Given the description of an element on the screen output the (x, y) to click on. 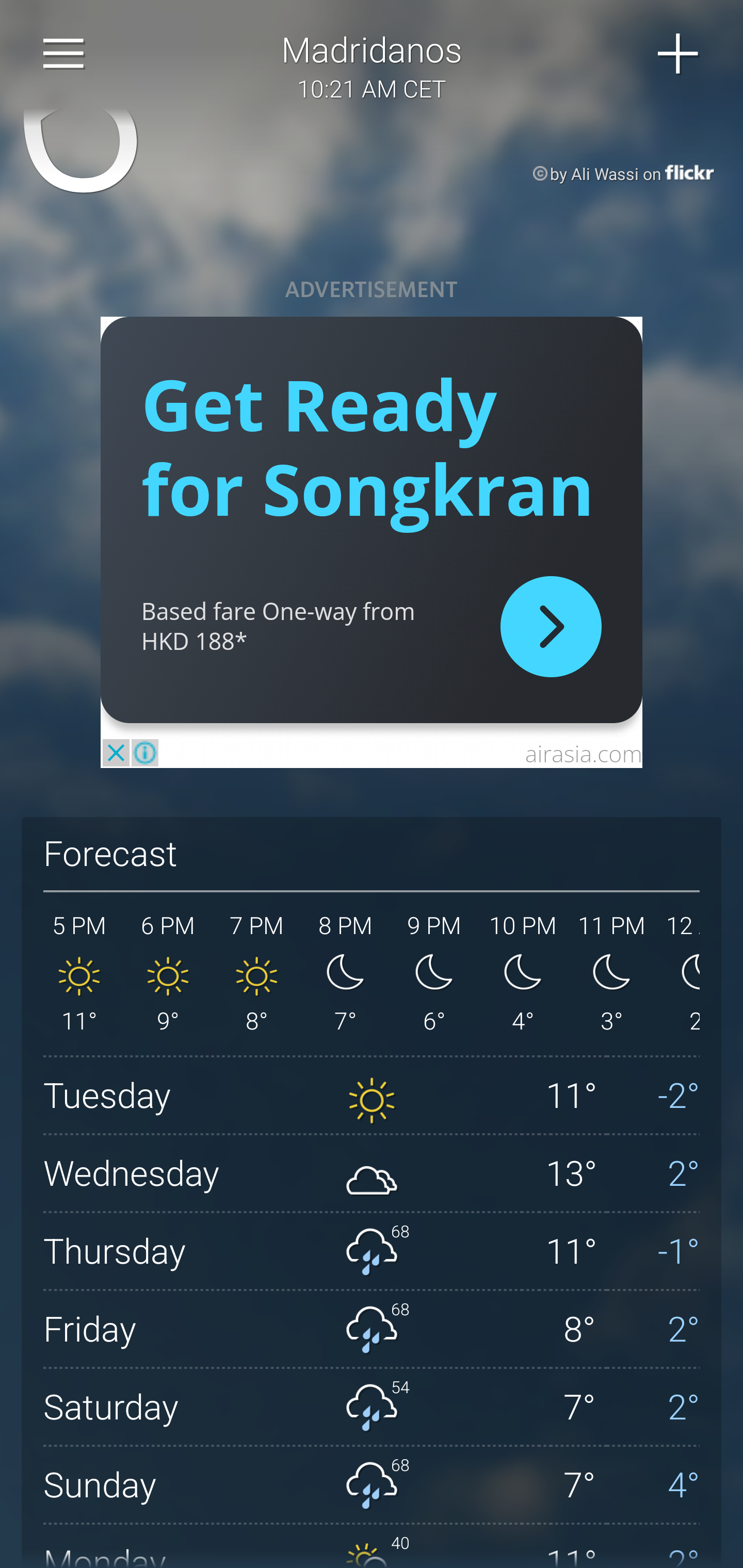
Sidebar (64, 54)
Add City (678, 53)
Get Ready for Songkran Get Ready 
 for Songkran (367, 445)
airasia.com (582, 753)
